Given the description of an element on the screen output the (x, y) to click on. 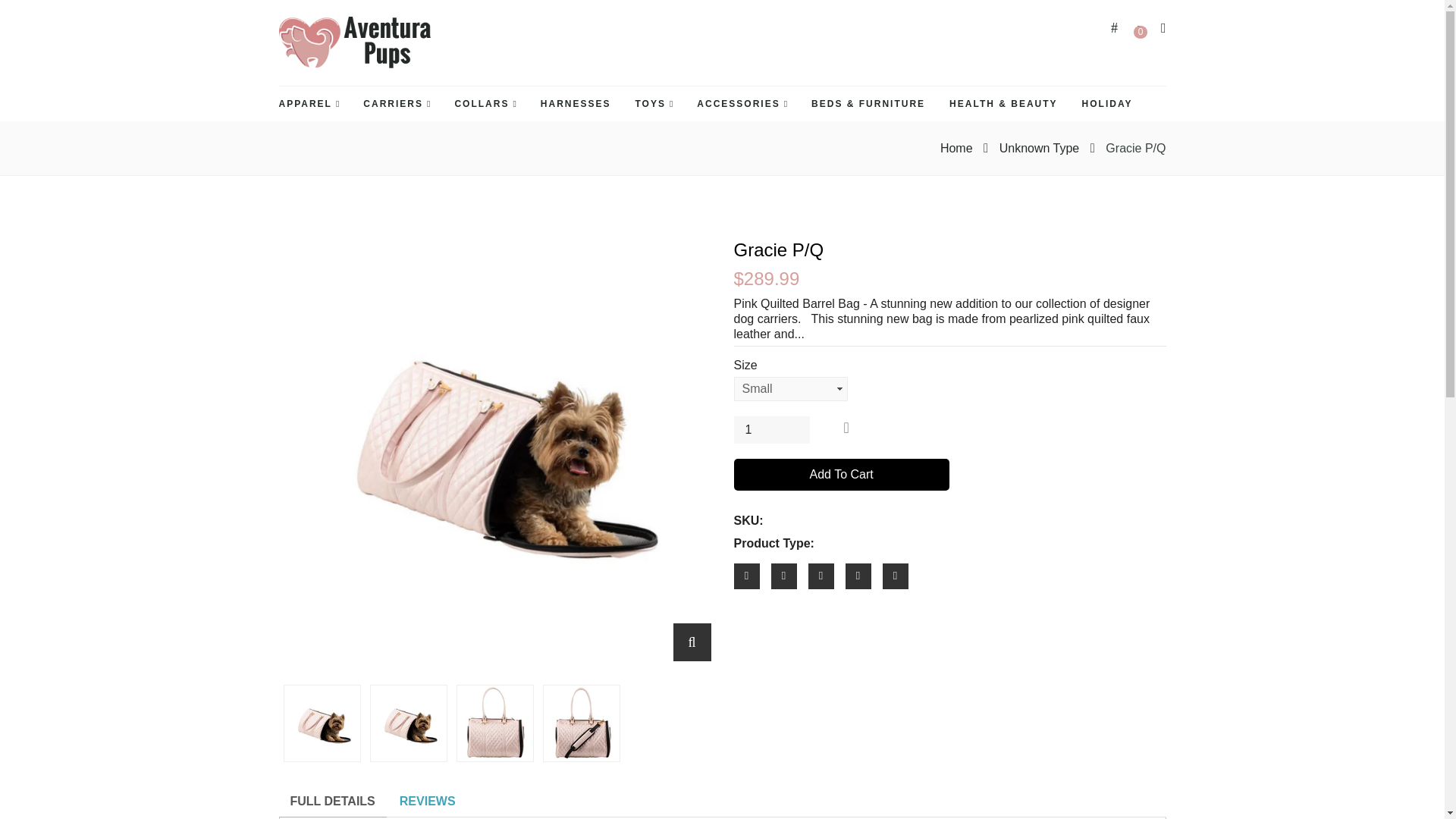
Aventura Pups (354, 42)
1 (771, 429)
Quantity (771, 429)
